Given the description of an element on the screen output the (x, y) to click on. 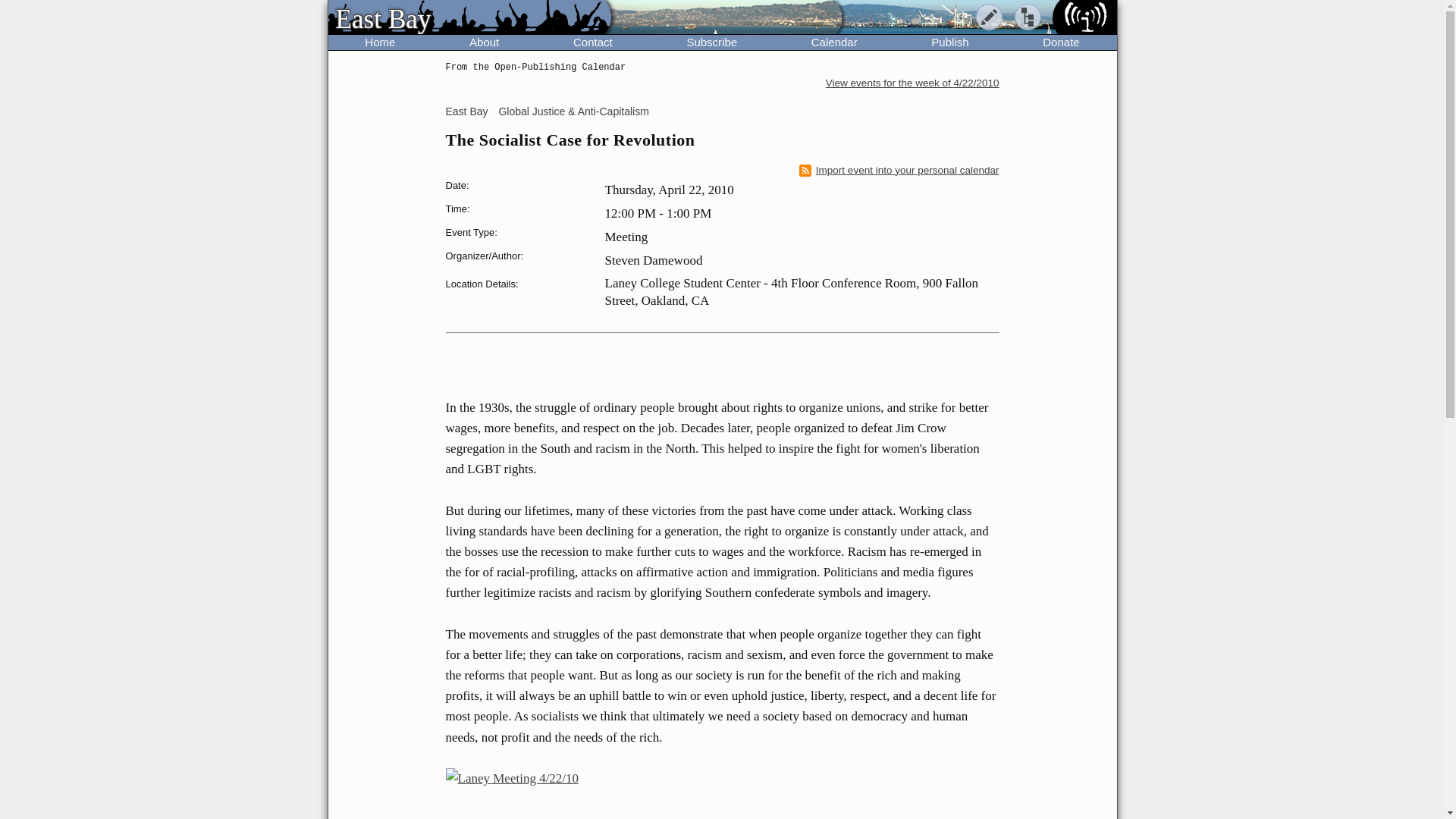
home (468, 18)
Publish to Newswire (988, 17)
home (1084, 18)
